Given the description of an element on the screen output the (x, y) to click on. 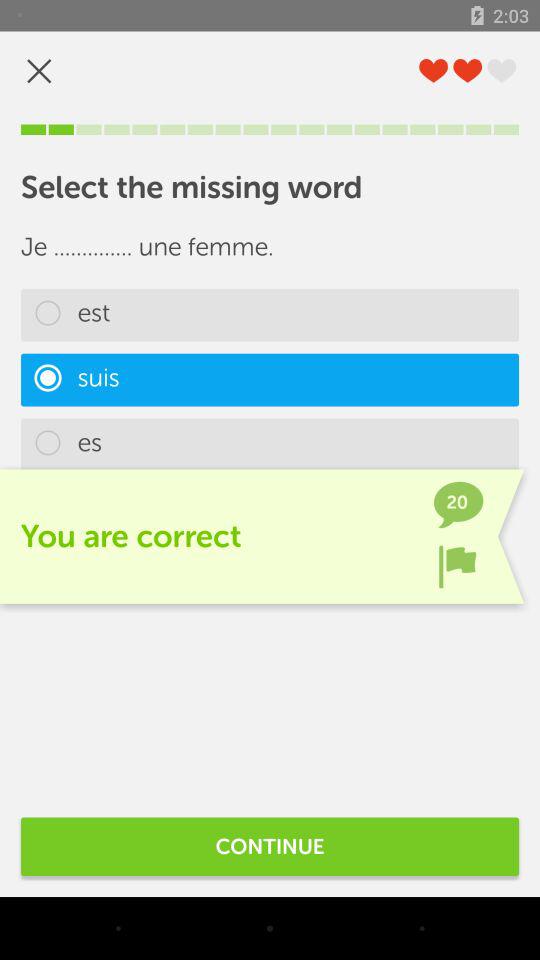
exit current screen (39, 70)
